Given the description of an element on the screen output the (x, y) to click on. 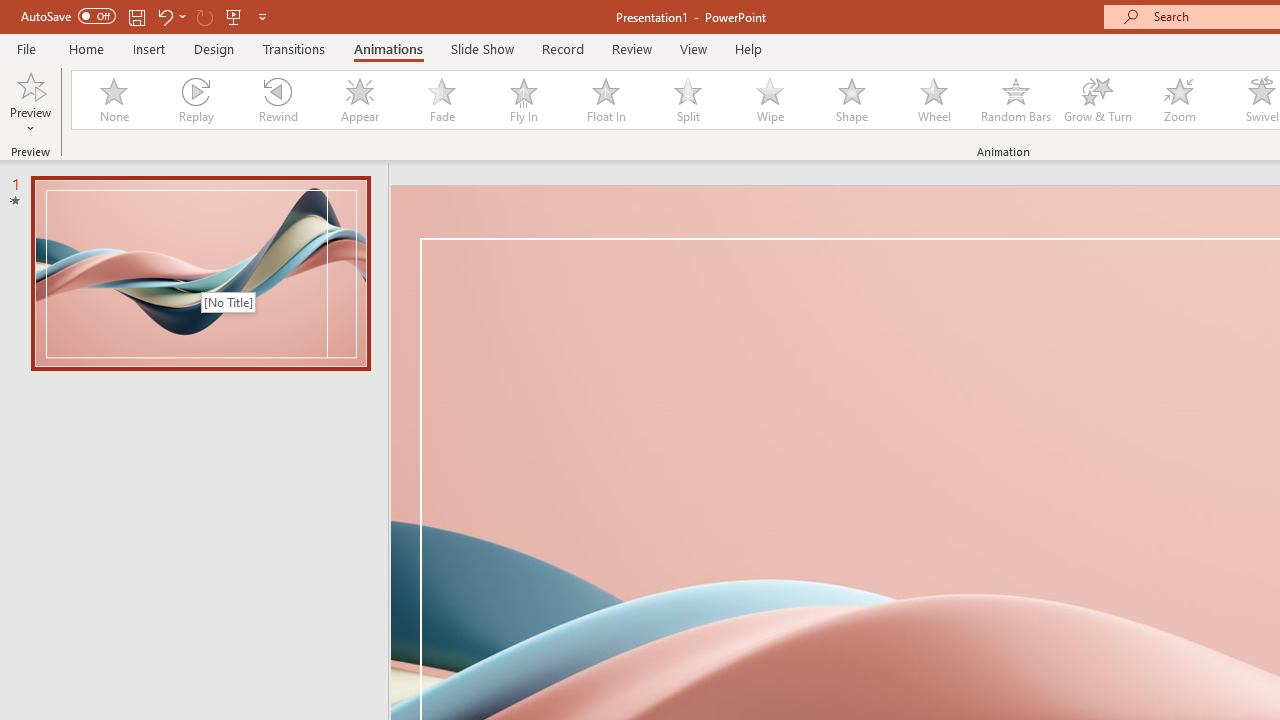
Random Bars (1016, 100)
Split (687, 100)
